Given the description of an element on the screen output the (x, y) to click on. 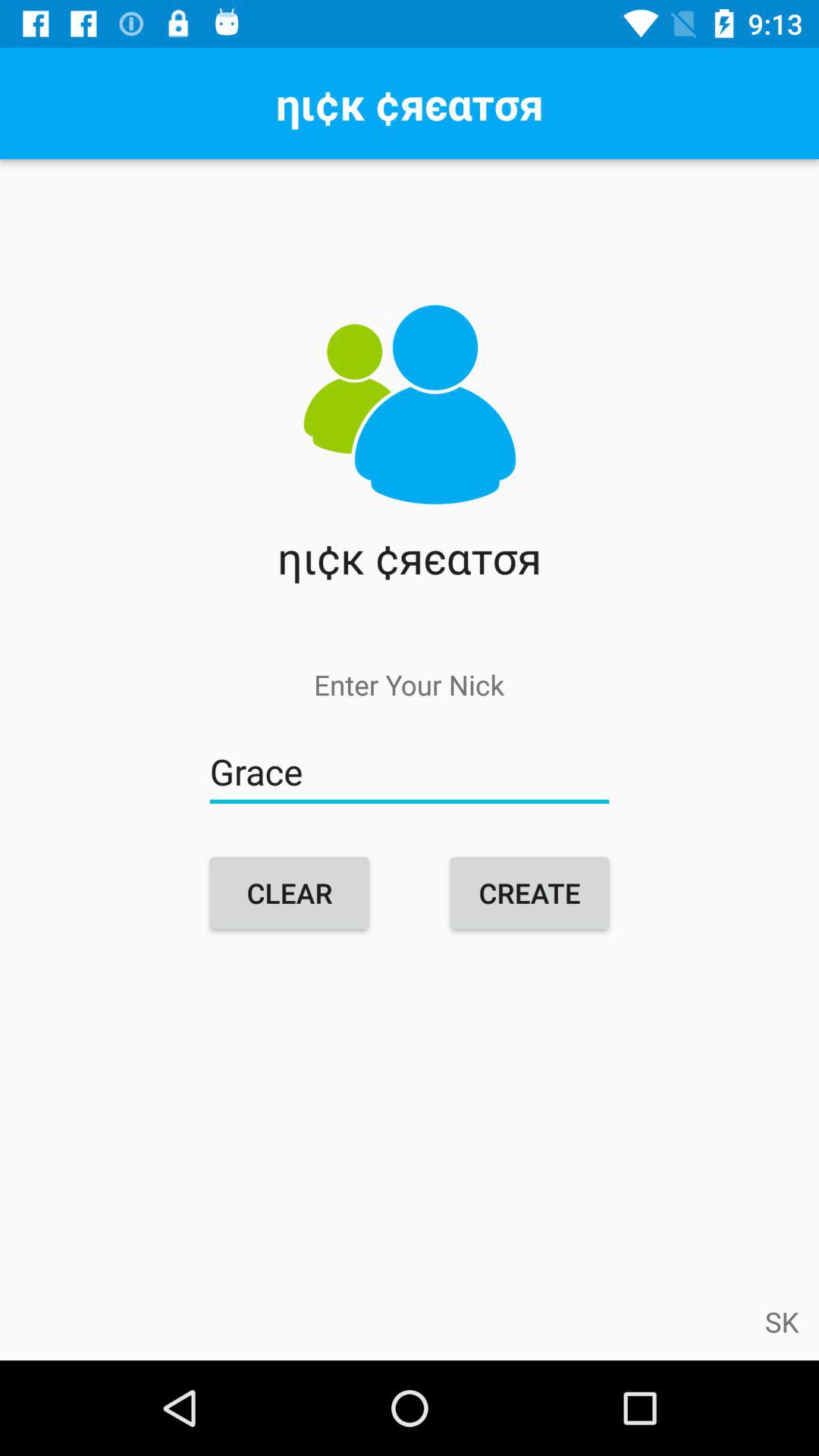
select item to the left of the create icon (289, 892)
